Given the description of an element on the screen output the (x, y) to click on. 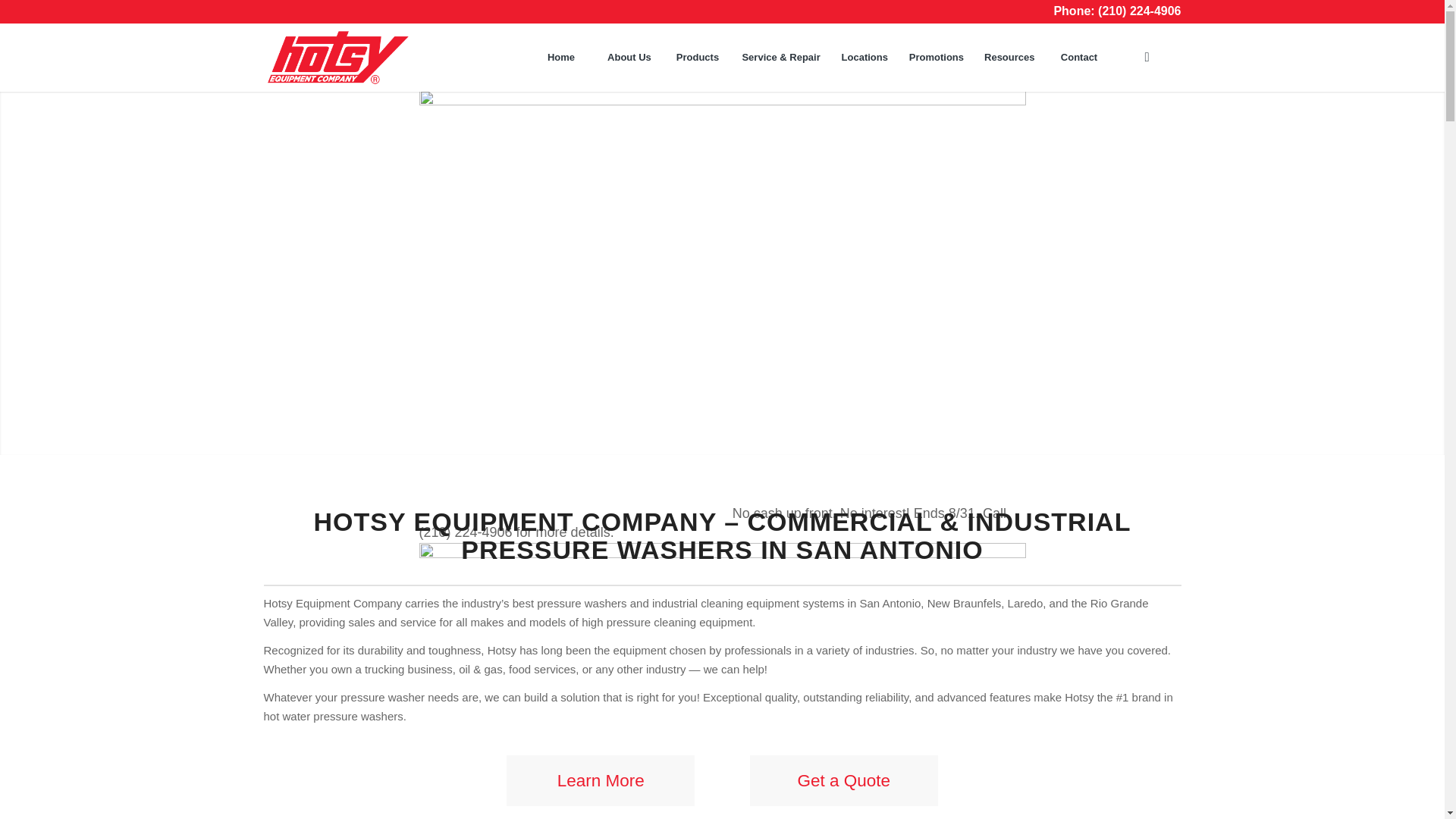
Locations (863, 57)
Home (559, 57)
Contact (1079, 57)
hotsy-logo (337, 57)
Resources (1008, 57)
Products (696, 57)
Promotions (936, 57)
About Us (628, 57)
Learn More (600, 780)
Get a Quote (843, 780)
